Given the description of an element on the screen output the (x, y) to click on. 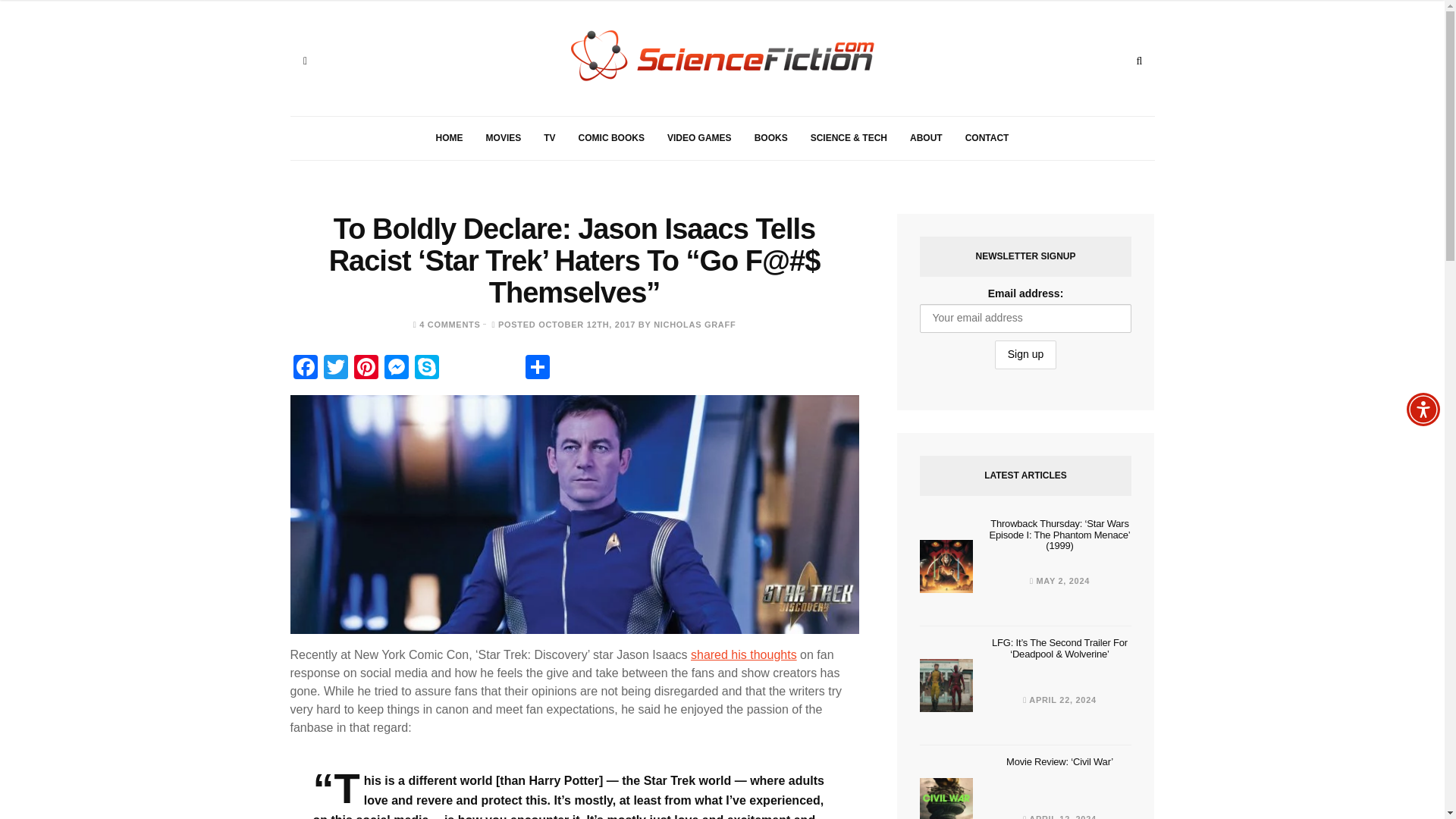
HOME (449, 138)
VIDEO GAMES (699, 138)
BOOKS (770, 138)
Sign up (1025, 354)
Facebook (304, 368)
CONTACT (986, 138)
ABOUT (925, 138)
Accessibility Menu (1422, 409)
Twitter (335, 368)
Posts by Nicholas Graff (694, 324)
